Given the description of an element on the screen output the (x, y) to click on. 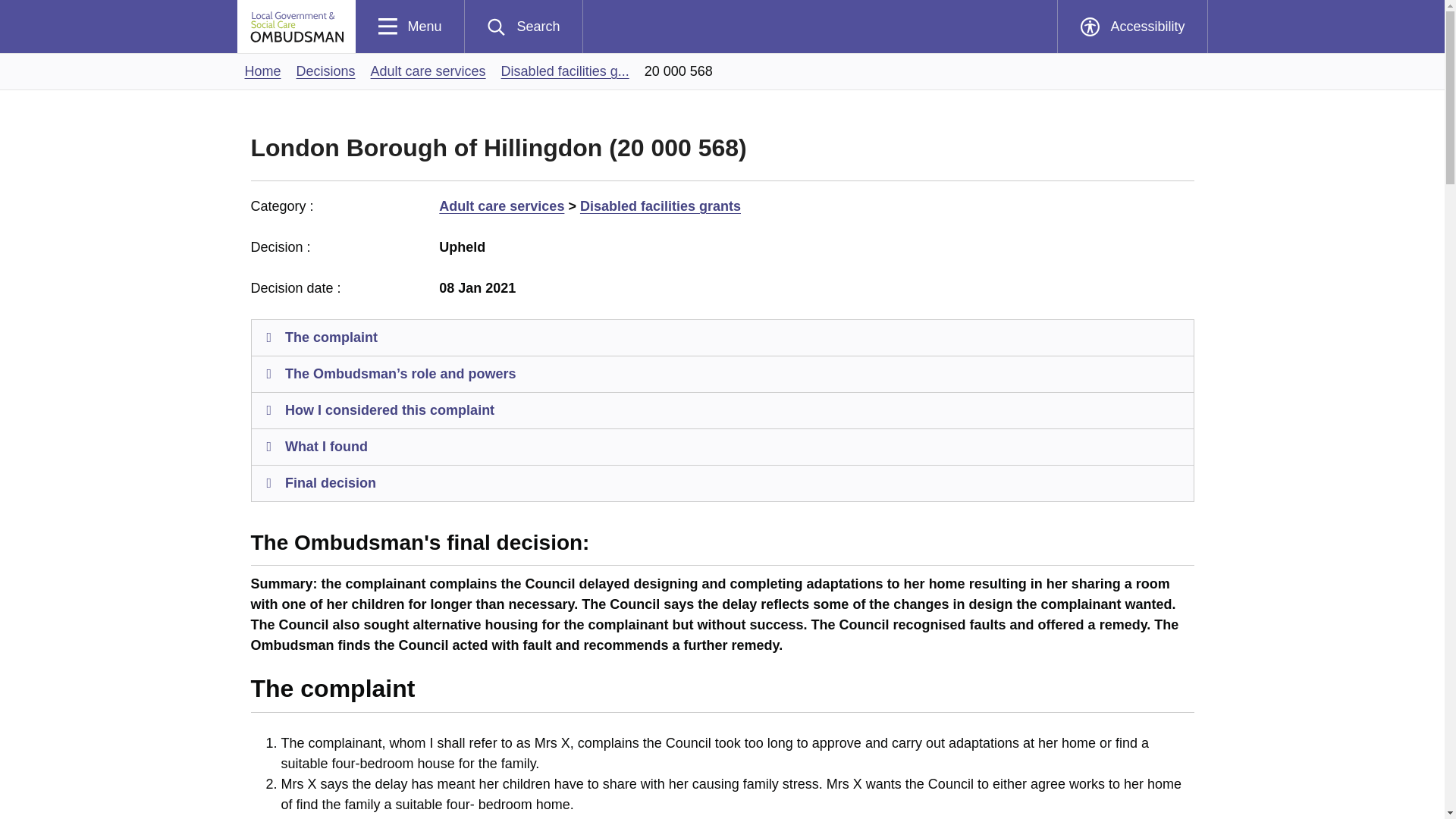
Adult care services (501, 206)
Launch assistive technology (1132, 26)
What I found (722, 447)
Adult care services (428, 70)
Disabled facilities grants (660, 206)
Decisions (326, 70)
Disabled facilities g... (564, 70)
Disabled facilities grants (409, 26)
Final decision (564, 70)
Accessibility (722, 484)
Home (1132, 26)
How I considered this complaint (262, 70)
Decisions (722, 411)
Adult care services (326, 70)
